Given the description of an element on the screen output the (x, y) to click on. 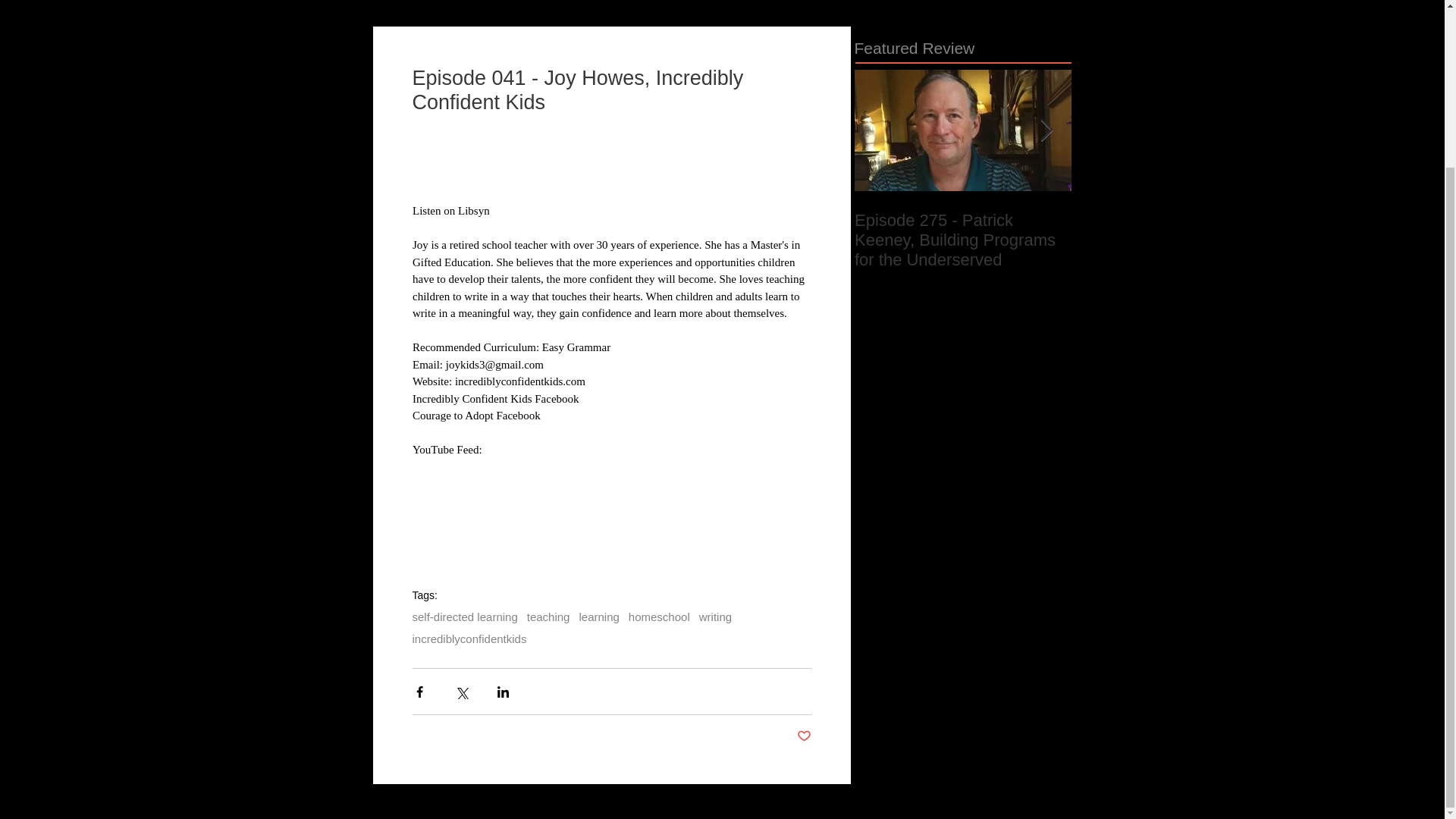
teaching (548, 616)
incrediblyconfidentkids.com (519, 381)
homeschool (659, 616)
learning (598, 616)
Courage to Adopt Facebook (476, 415)
incrediblyconfidentkids (469, 638)
self-directed learning (465, 616)
Listen on Libsyn (450, 210)
Incredibly Confident Kids Facebook (495, 398)
writing (715, 616)
Post not marked as liked (803, 736)
Easy Grammar (575, 346)
